Given the description of an element on the screen output the (x, y) to click on. 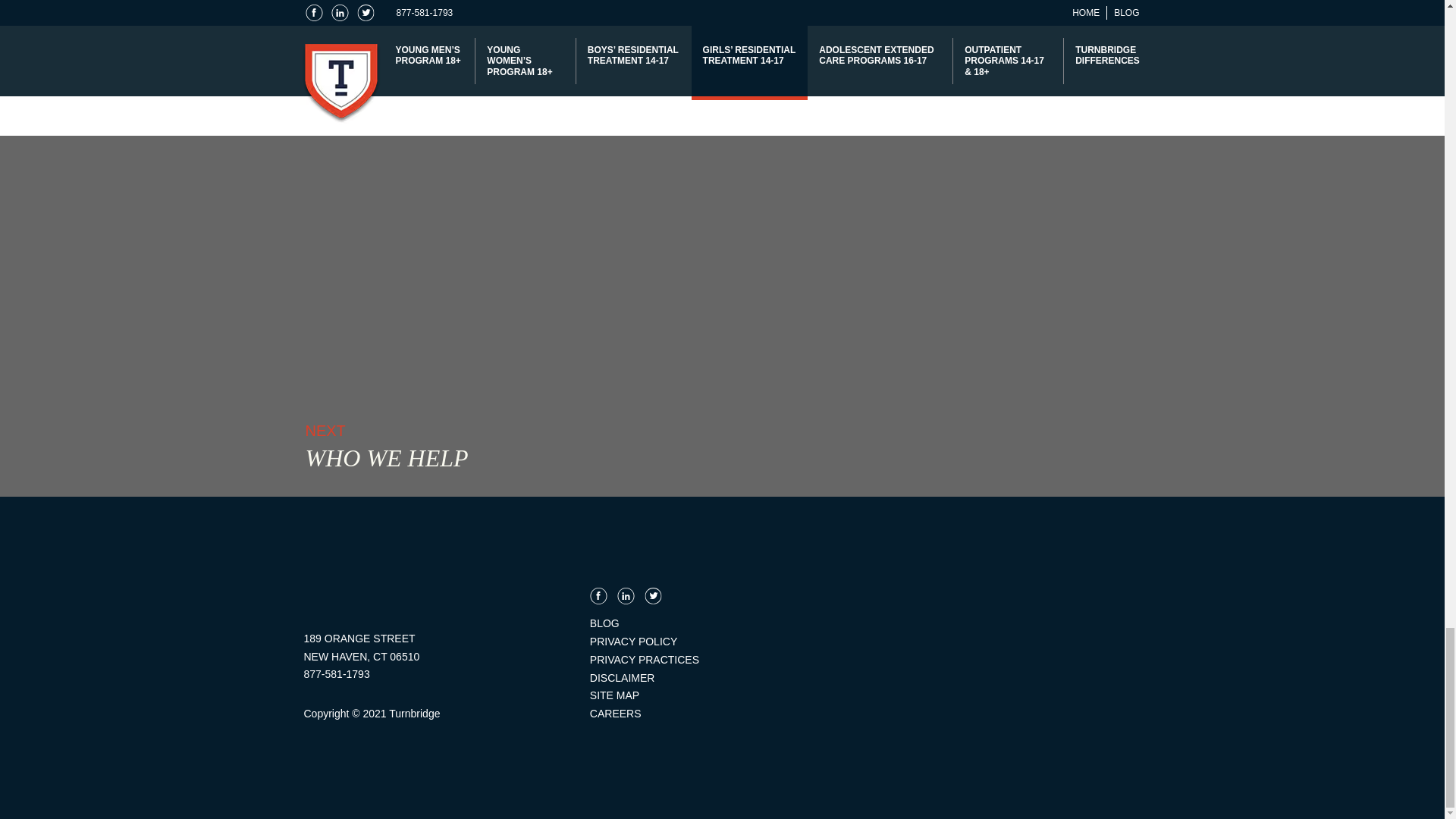
LinkedIn (625, 596)
Carf Logo (998, 568)
Twitter (653, 596)
Facebook (598, 596)
